Given the description of an element on the screen output the (x, y) to click on. 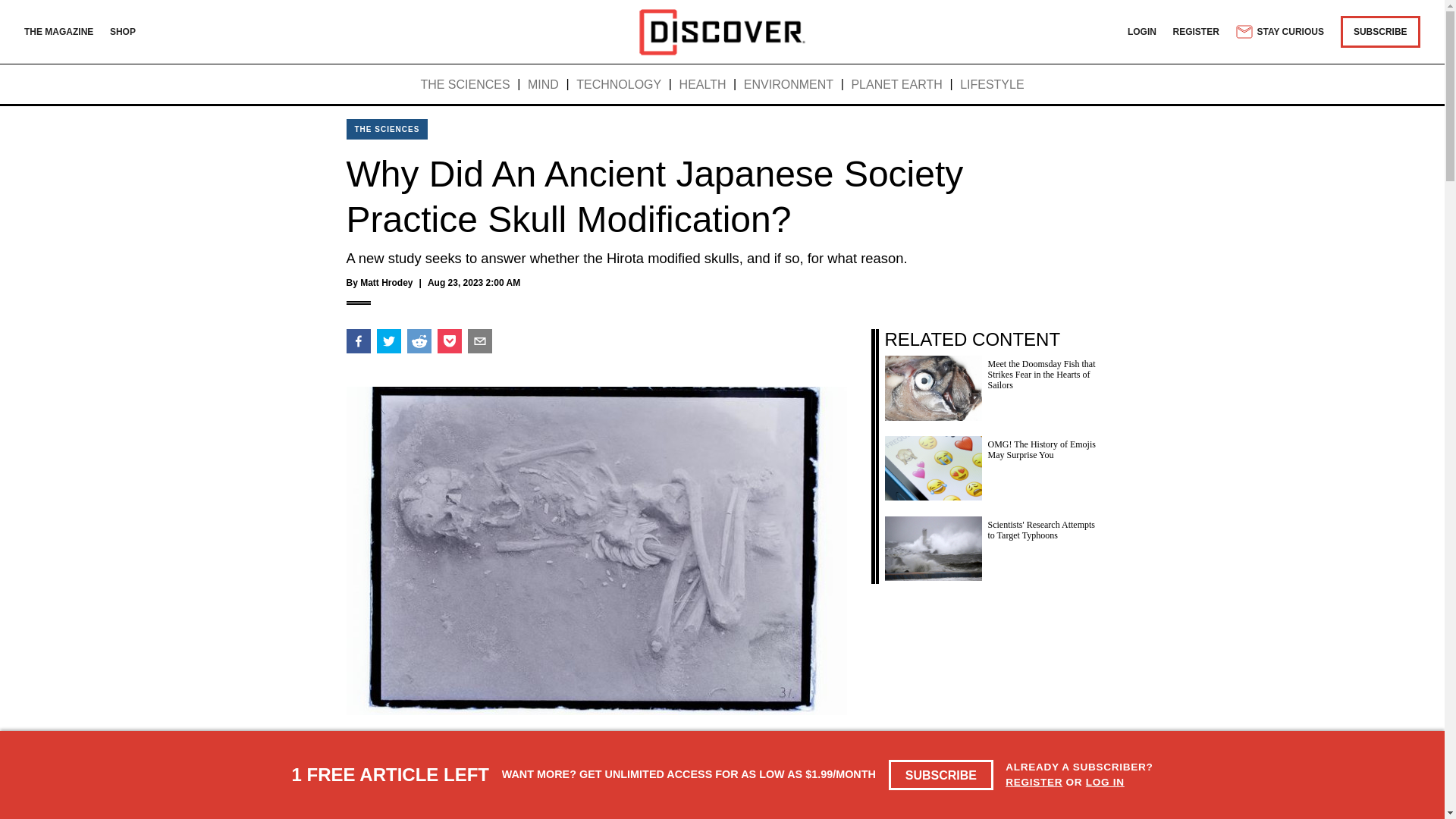
HEALTH (702, 84)
PLANET EARTH (896, 84)
REGISTER (1196, 31)
Scientists' Research Attempts to Target Typhoons (990, 544)
SUBSCRIBE (1380, 31)
TECHNOLOGY (618, 84)
OMG! The History of Emojis May Surprise You (990, 464)
SUBSCRIBE (941, 775)
Matt Hrodey (385, 282)
REGISTER (1034, 781)
MIND (543, 84)
SIGN UP (811, 809)
LIFESTYLE (991, 84)
ENVIRONMENT (788, 84)
LOG IN (1105, 781)
